Given the description of an element on the screen output the (x, y) to click on. 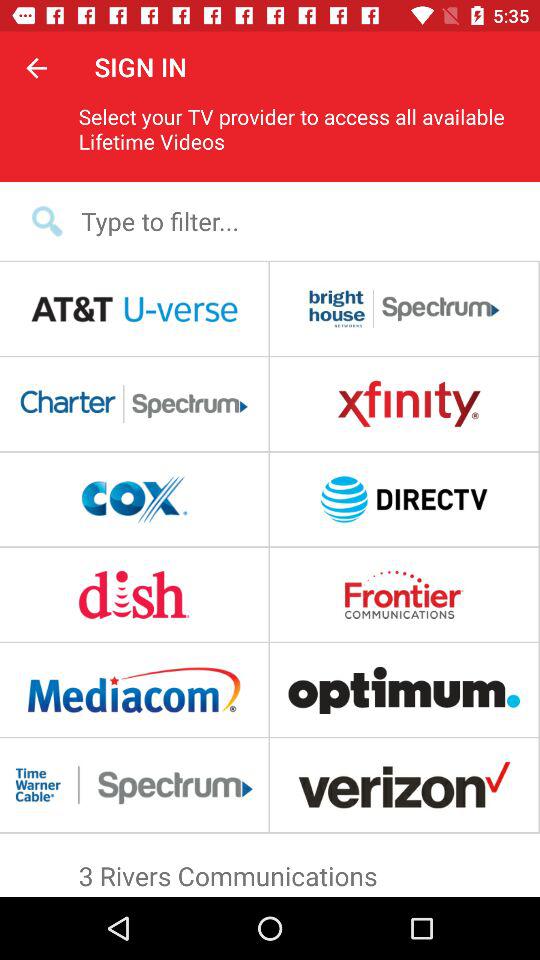
type words to filter (283, 220)
